Given the description of an element on the screen output the (x, y) to click on. 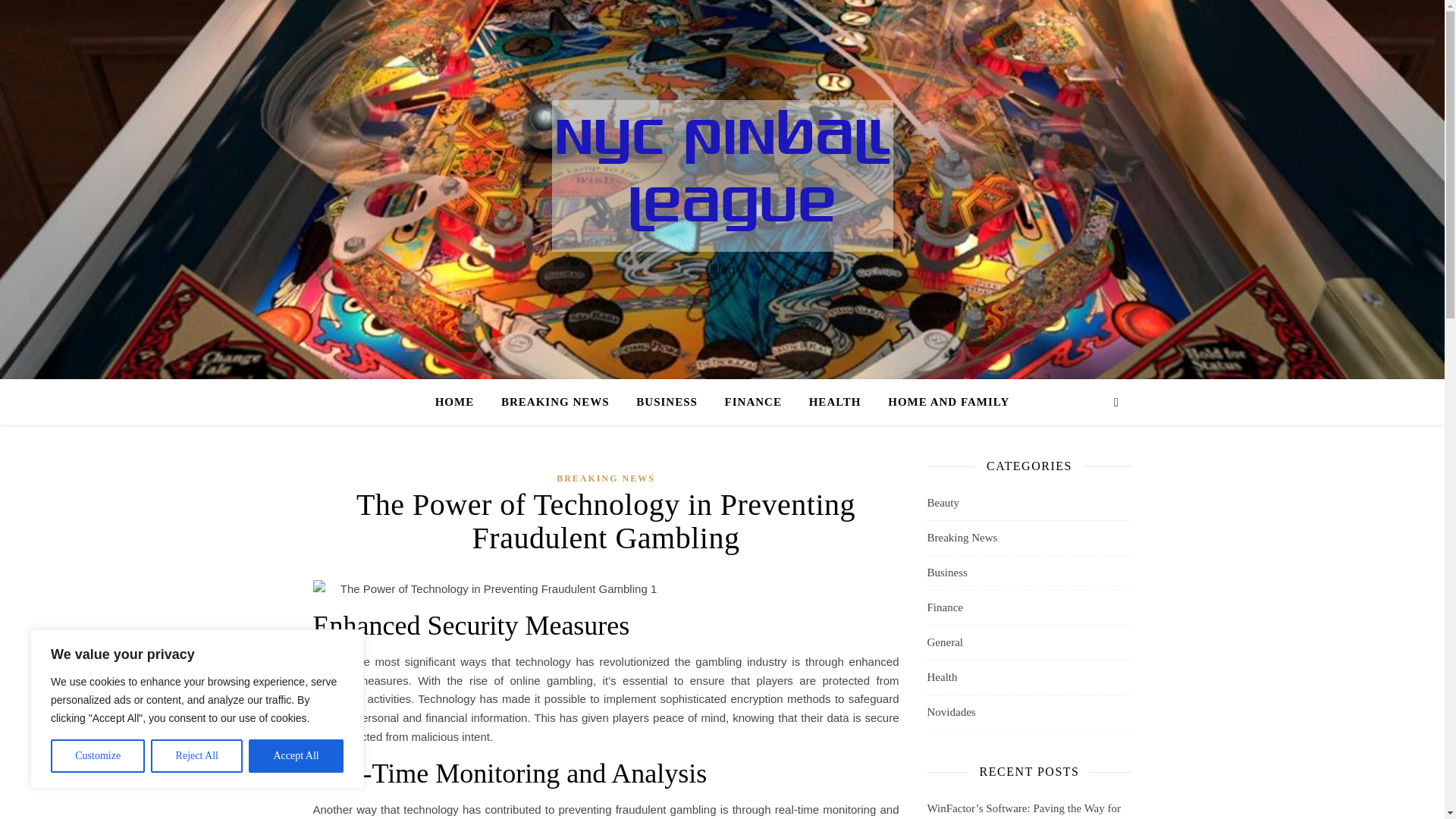
Reject All (197, 756)
Customize (97, 756)
BREAKING NEWS (605, 478)
Accept All (295, 756)
BREAKING NEWS (555, 402)
NYC Pinball League (721, 175)
HEALTH (834, 402)
FINANCE (753, 402)
BUSINESS (667, 402)
HOME AND FAMILY (942, 402)
